Given the description of an element on the screen output the (x, y) to click on. 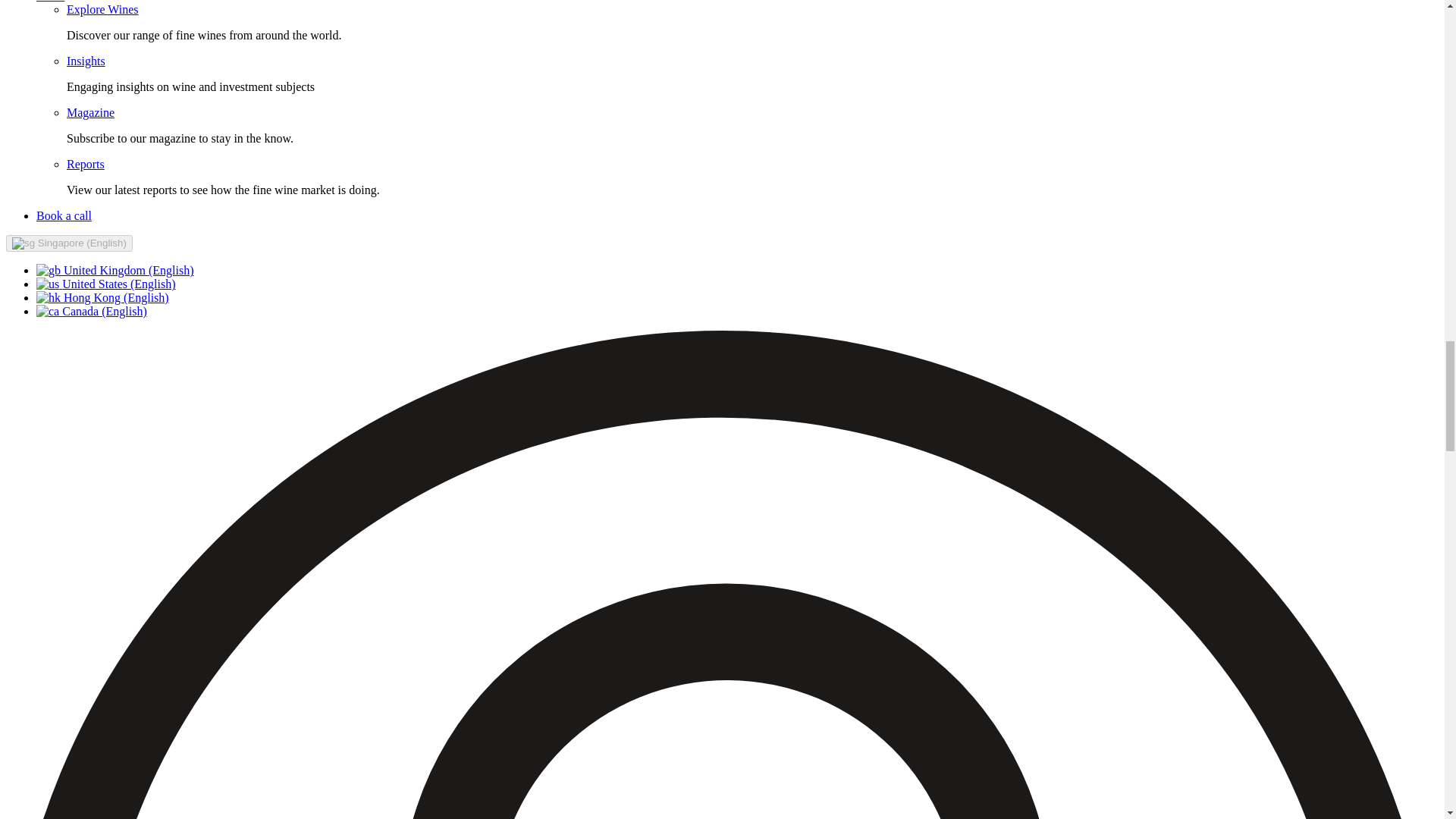
Reports (85, 164)
Magazine (90, 112)
Book a call (63, 215)
Learn (50, 1)
Insights (85, 60)
Explore Wines (102, 9)
